Given the description of an element on the screen output the (x, y) to click on. 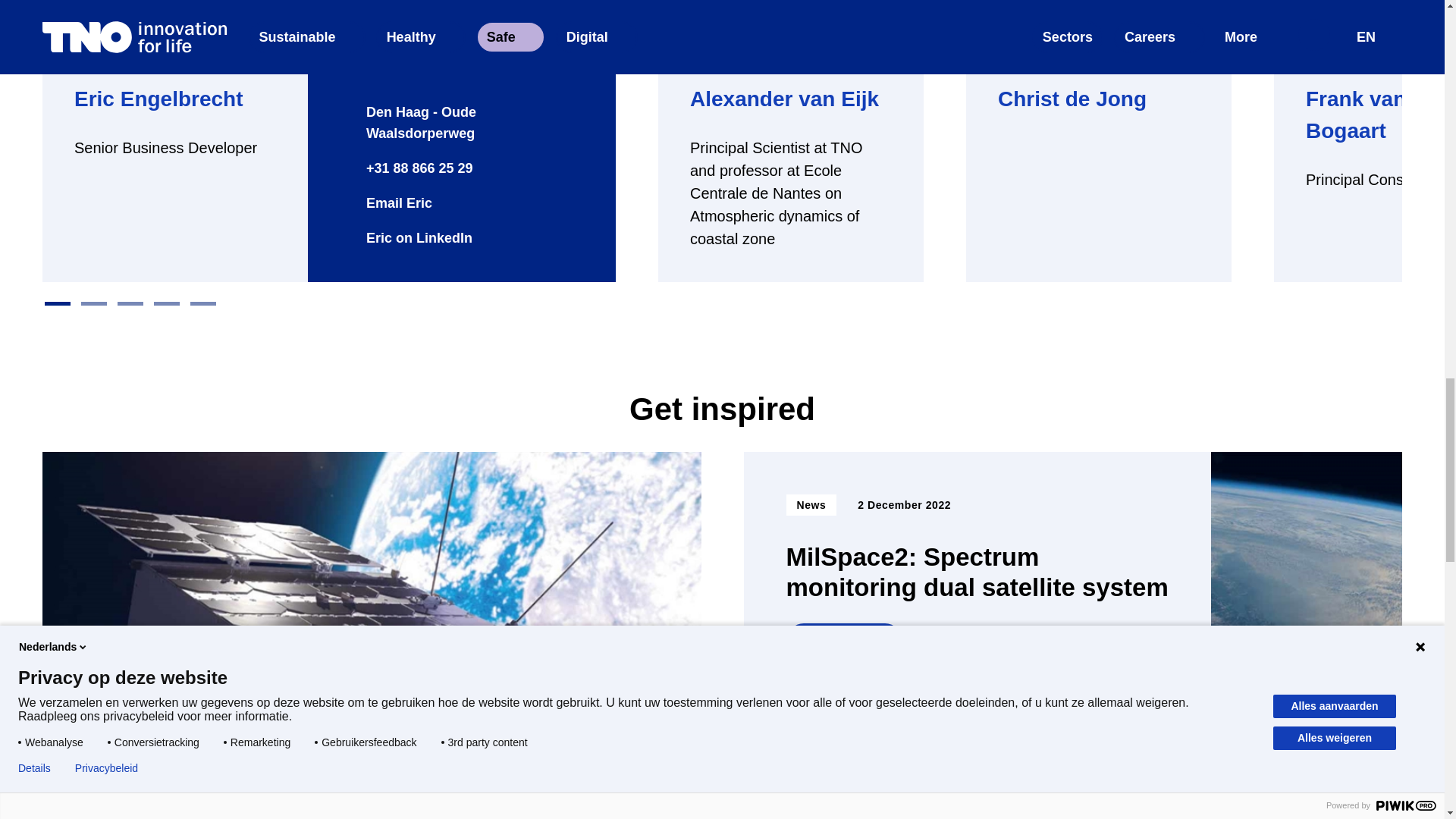
Email Eric (385, 203)
Den Haag - Oude Waalsdorperweg (461, 122)
Eric on LinkedIn (405, 238)
